Given the description of an element on the screen output the (x, y) to click on. 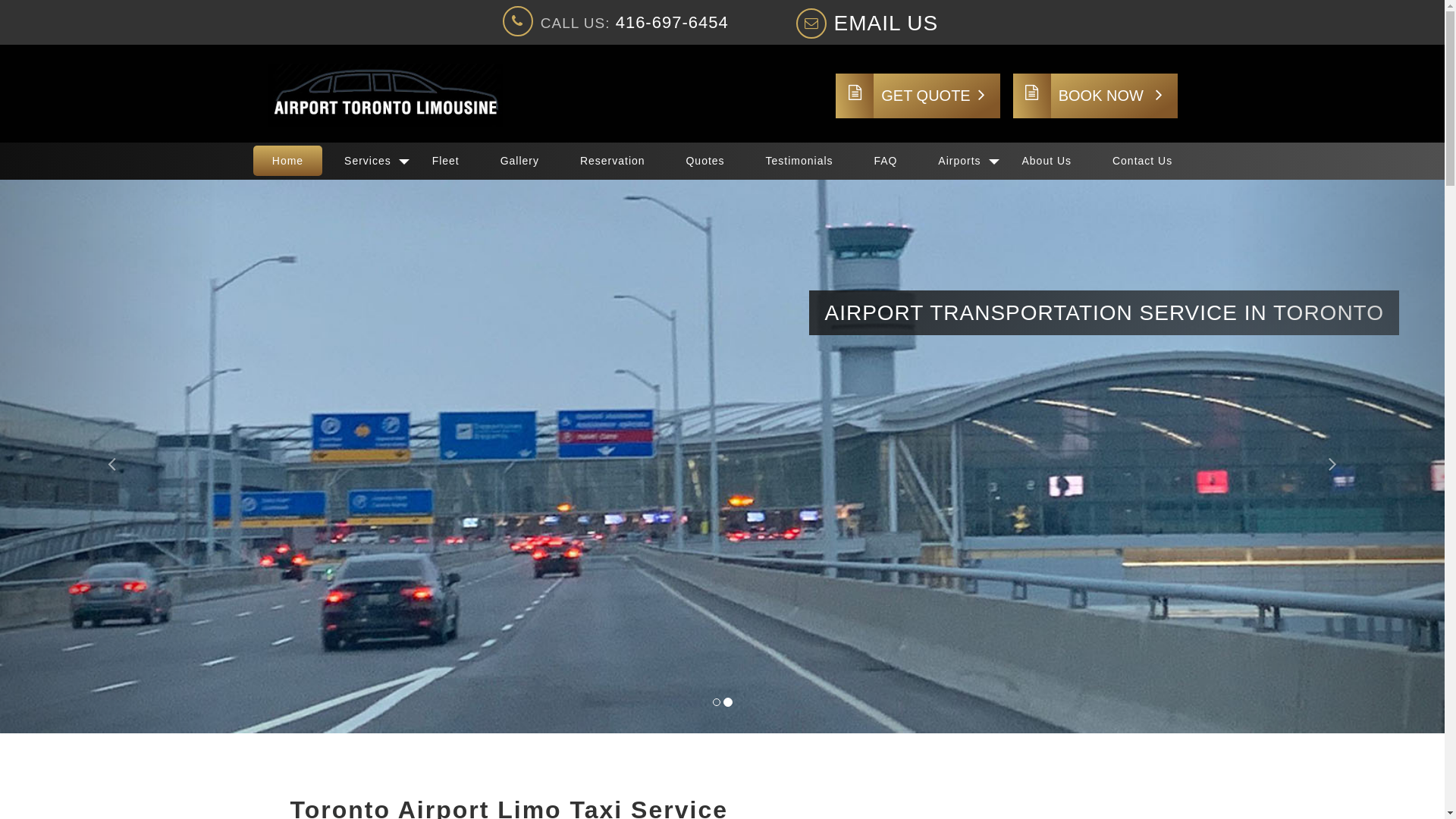
Quotes Element type: text (704, 160)
CALL US: 416-697-6454 Element type: text (617, 22)
About Us Element type: text (1046, 160)
Fleet Element type: text (445, 160)
Contact Us Element type: text (1142, 160)
Airport 3 Element type: hover (722, 456)
Reservation Element type: text (612, 160)
BOOK NOW Element type: text (1095, 95)
Testimonials Element type: text (799, 160)
Airports Element type: text (959, 160)
FAQ Element type: text (885, 160)
GET QUOTE Element type: text (917, 95)
Services Element type: text (367, 160)
Gallery Element type: text (519, 160)
Airport Toronto Limo Taxi Element type: hover (384, 95)
EMAIL US Element type: text (869, 23)
Home Element type: text (287, 160)
